Given the description of an element on the screen output the (x, y) to click on. 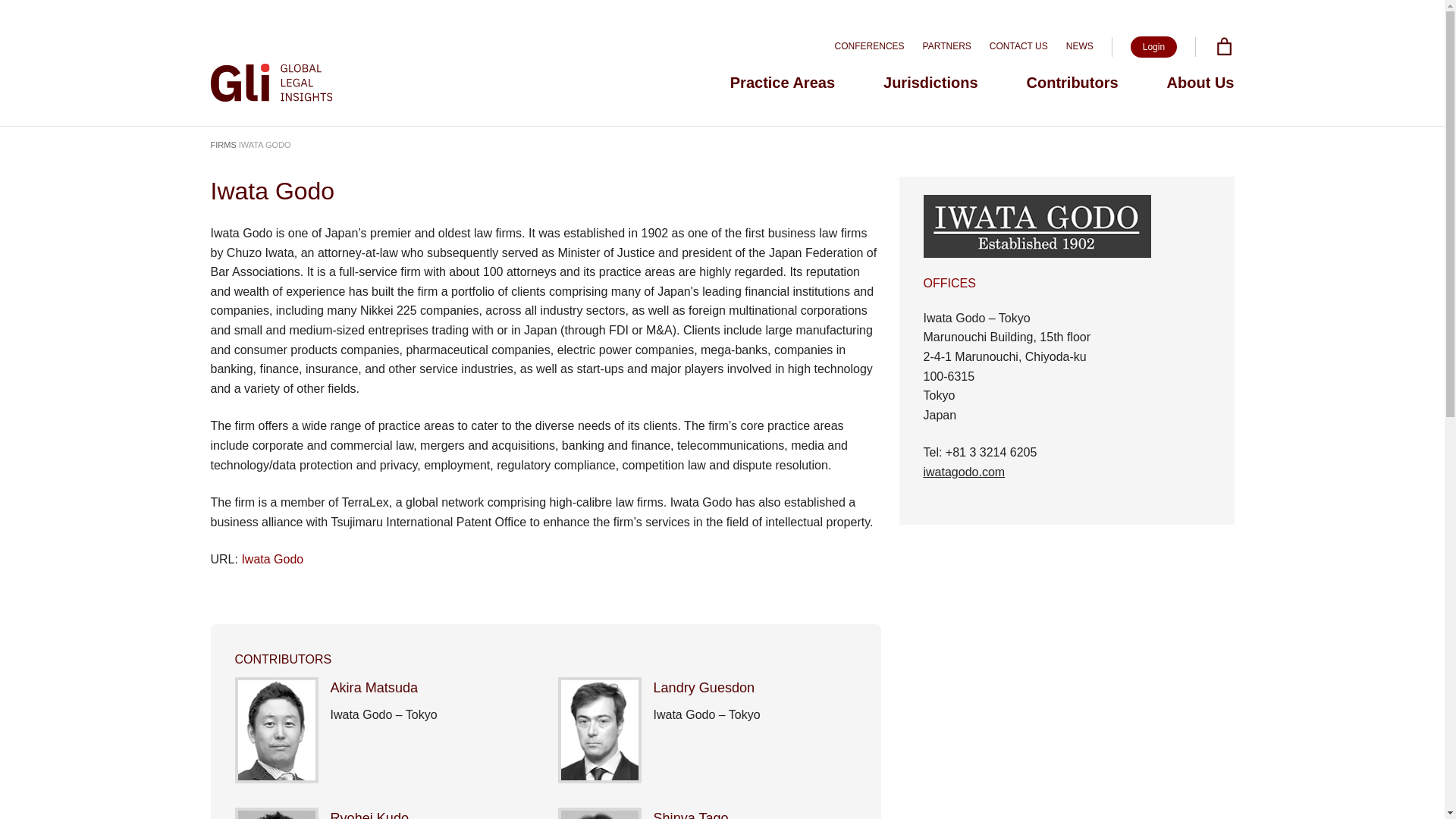
About Us (1200, 82)
Ryohei Kudo (369, 814)
iwatagodo.com (964, 472)
CONFERENCES (869, 46)
Iwata Godo (271, 558)
Practice Areas (782, 82)
CONTACT US (1019, 46)
NEWS (1079, 46)
Landry Guesdon (704, 687)
Login (1153, 46)
